Given the description of an element on the screen output the (x, y) to click on. 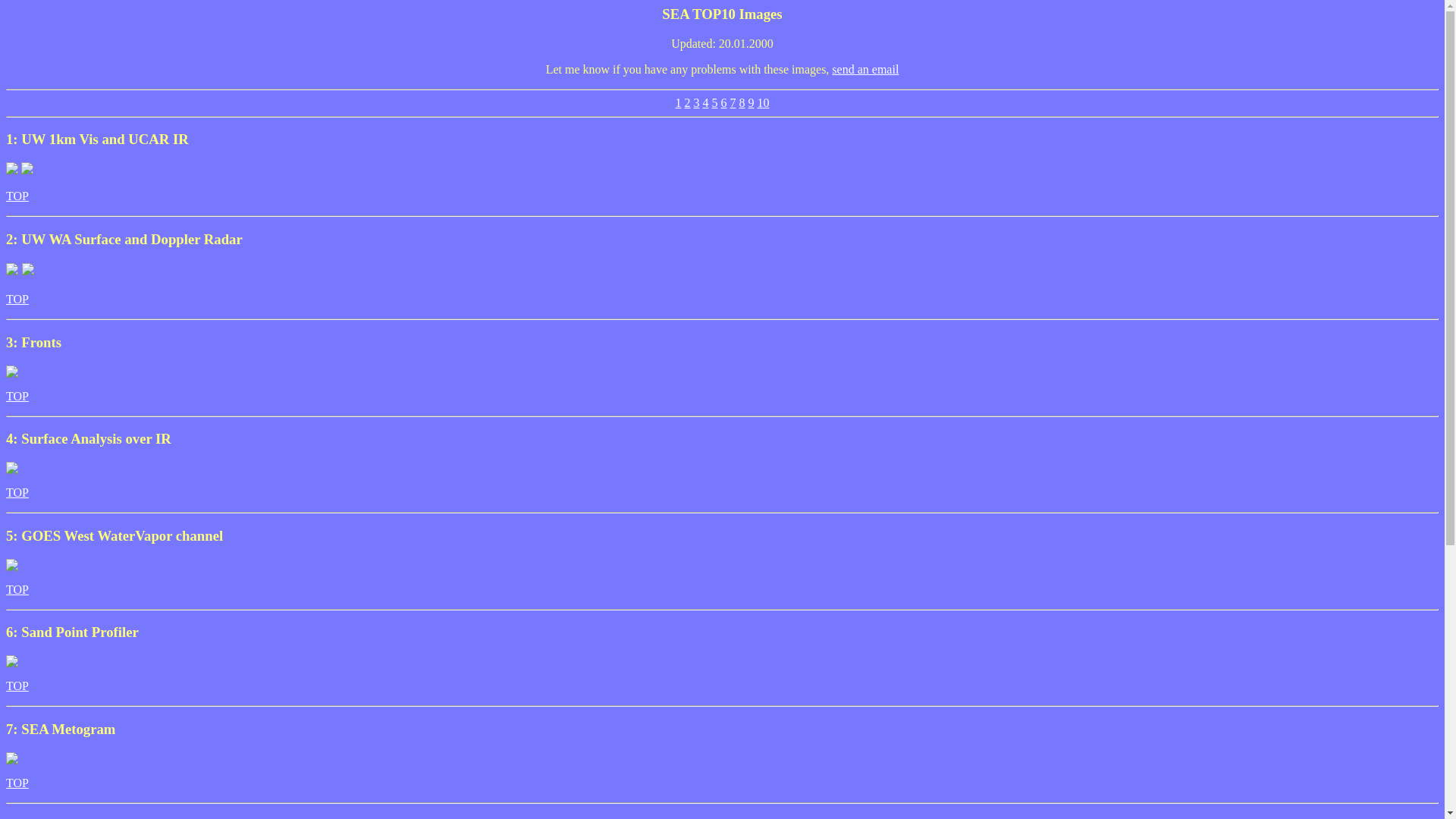
7 Element type: text (732, 102)
TOP Element type: text (17, 492)
TOP Element type: text (17, 195)
4 Element type: text (705, 102)
1 Element type: text (677, 102)
6: Sand Point Profiler Element type: text (722, 646)
2 Element type: text (687, 102)
TOP Element type: text (17, 685)
2: UW WA Surface and Doppler Radar Element type: text (722, 255)
6 Element type: text (723, 102)
4: Surface Analysis over IR Element type: text (722, 453)
3: Fronts Element type: text (722, 356)
TOP Element type: text (17, 298)
send an email Element type: text (864, 68)
TOP Element type: text (17, 782)
1: UW 1km Vis and UCAR IR Element type: text (722, 154)
3 Element type: text (696, 102)
5 Element type: text (714, 102)
7: SEA Metogram Element type: text (722, 743)
9 Element type: text (750, 102)
8 Element type: text (741, 102)
TOP Element type: text (17, 395)
10 Element type: text (762, 102)
5: GOES West WaterVapor channel Element type: text (722, 550)
TOP Element type: text (17, 589)
